Given the description of an element on the screen output the (x, y) to click on. 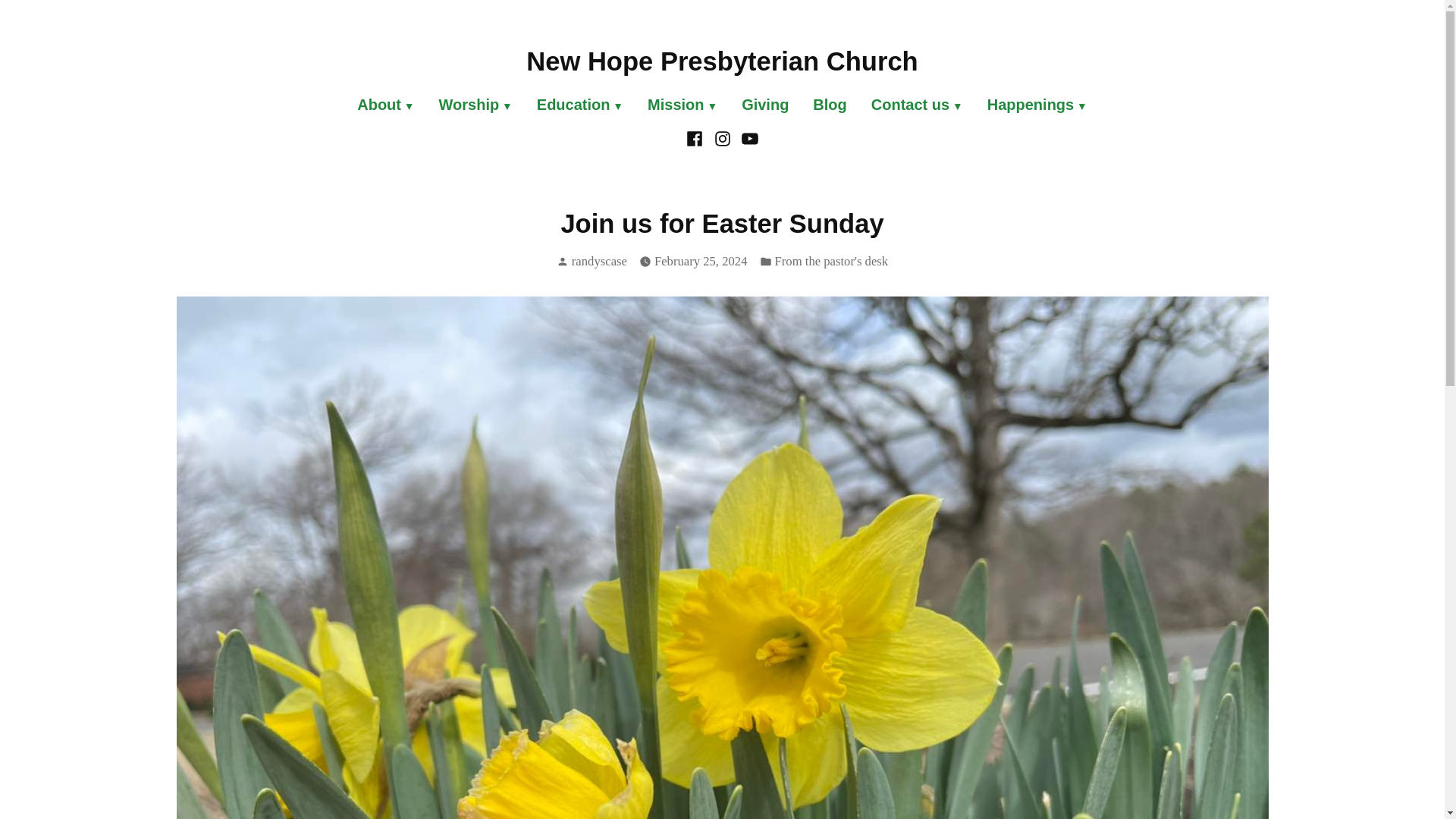
Blog (829, 105)
Giving (764, 105)
randyscase (599, 260)
YouTube (748, 136)
Worship (475, 105)
New Hope Presbyterian Church (721, 61)
Facebook (695, 136)
Happenings (1031, 105)
Mission (681, 105)
